Given the description of an element on the screen output the (x, y) to click on. 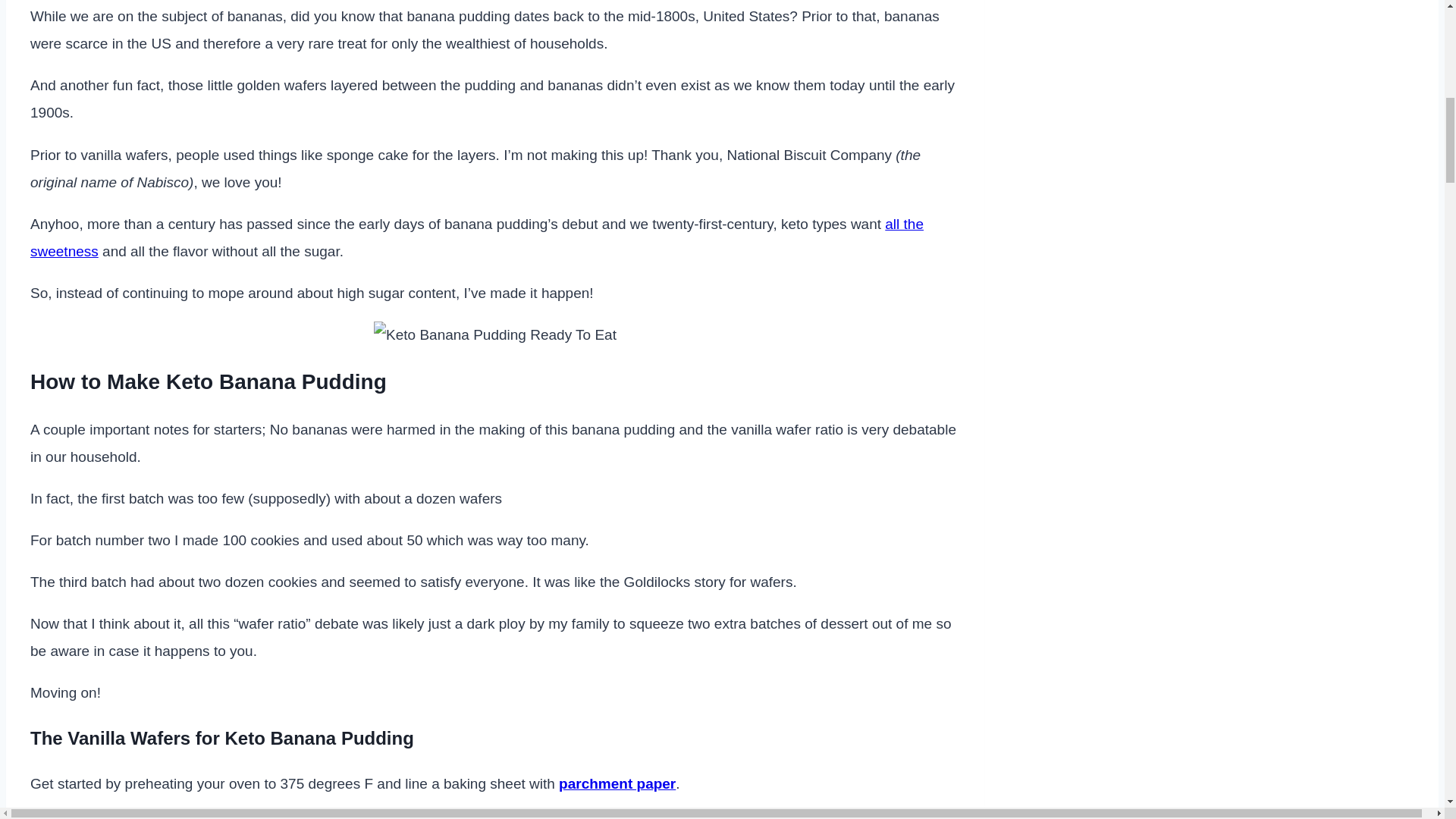
almond extract (551, 818)
sweetener (425, 818)
parchment paper (617, 783)
all the sweetness (476, 237)
